Given the description of an element on the screen output the (x, y) to click on. 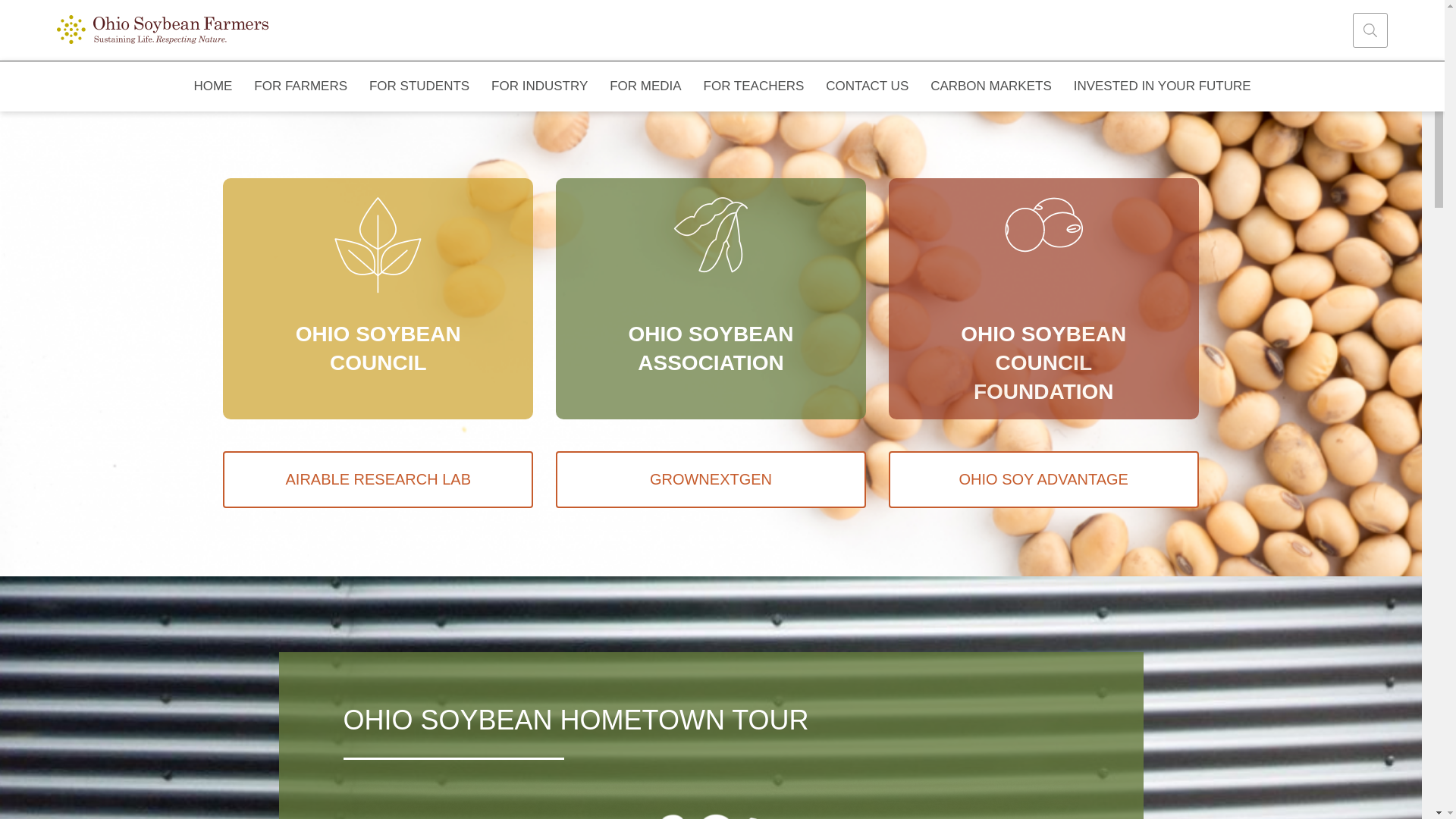
HOME (213, 86)
CARBON MARKETS (991, 86)
FOR INDUSTRY (539, 86)
INVESTED IN YOUR FUTURE (1161, 86)
FOR TEACHERS (753, 86)
FOR FARMERS (300, 86)
FOR STUDENTS (418, 86)
FOR MEDIA (645, 86)
CONTACT US (867, 86)
